Given the description of an element on the screen output the (x, y) to click on. 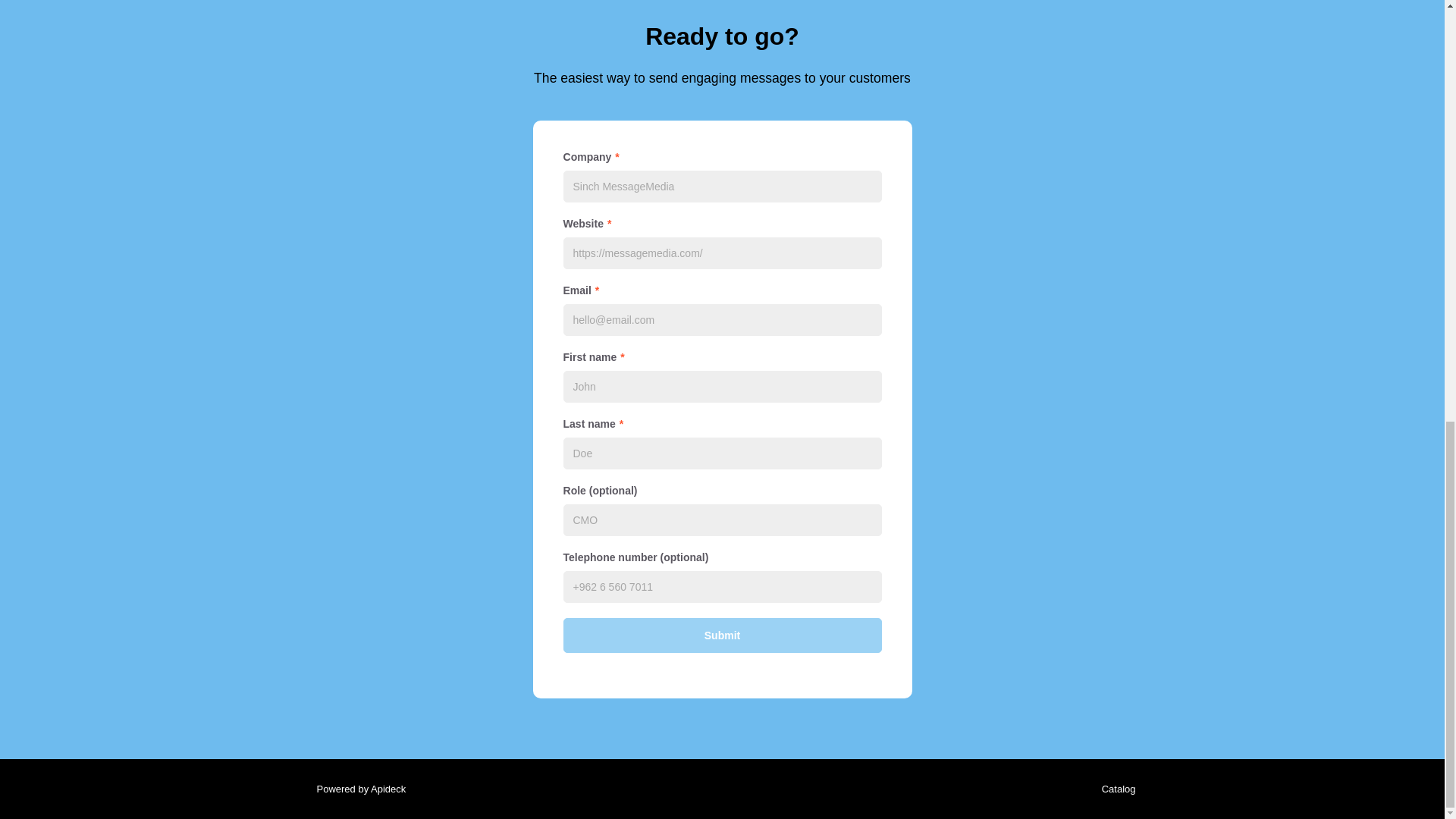
Powered by Apideck (356, 789)
Submit (721, 635)
Catalog (1115, 789)
